Given the description of an element on the screen output the (x, y) to click on. 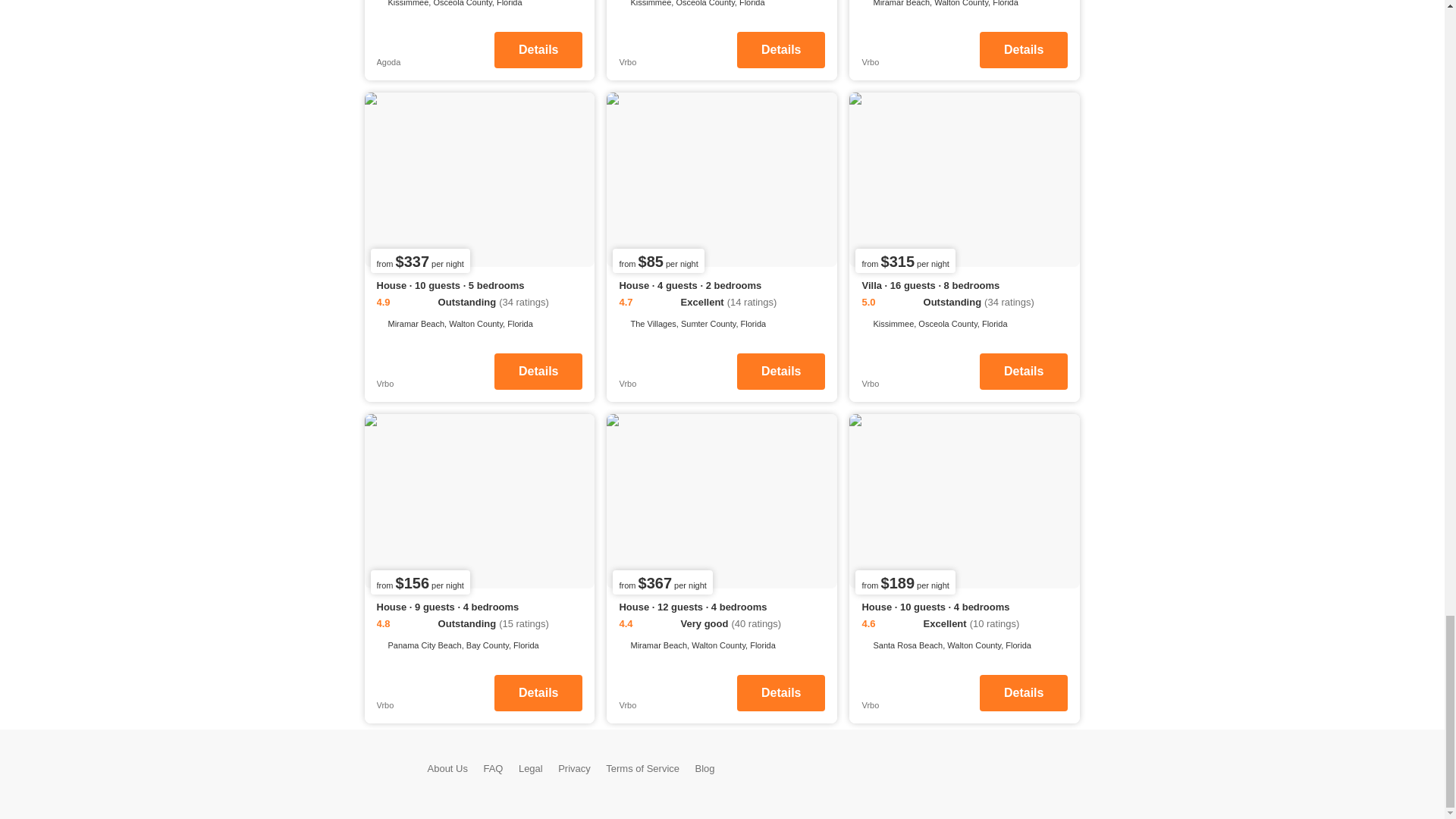
Legal (530, 767)
About Us (447, 767)
Blog (704, 767)
Terms of Service (642, 767)
FAQ (492, 767)
Privacy (574, 767)
